Given the description of an element on the screen output the (x, y) to click on. 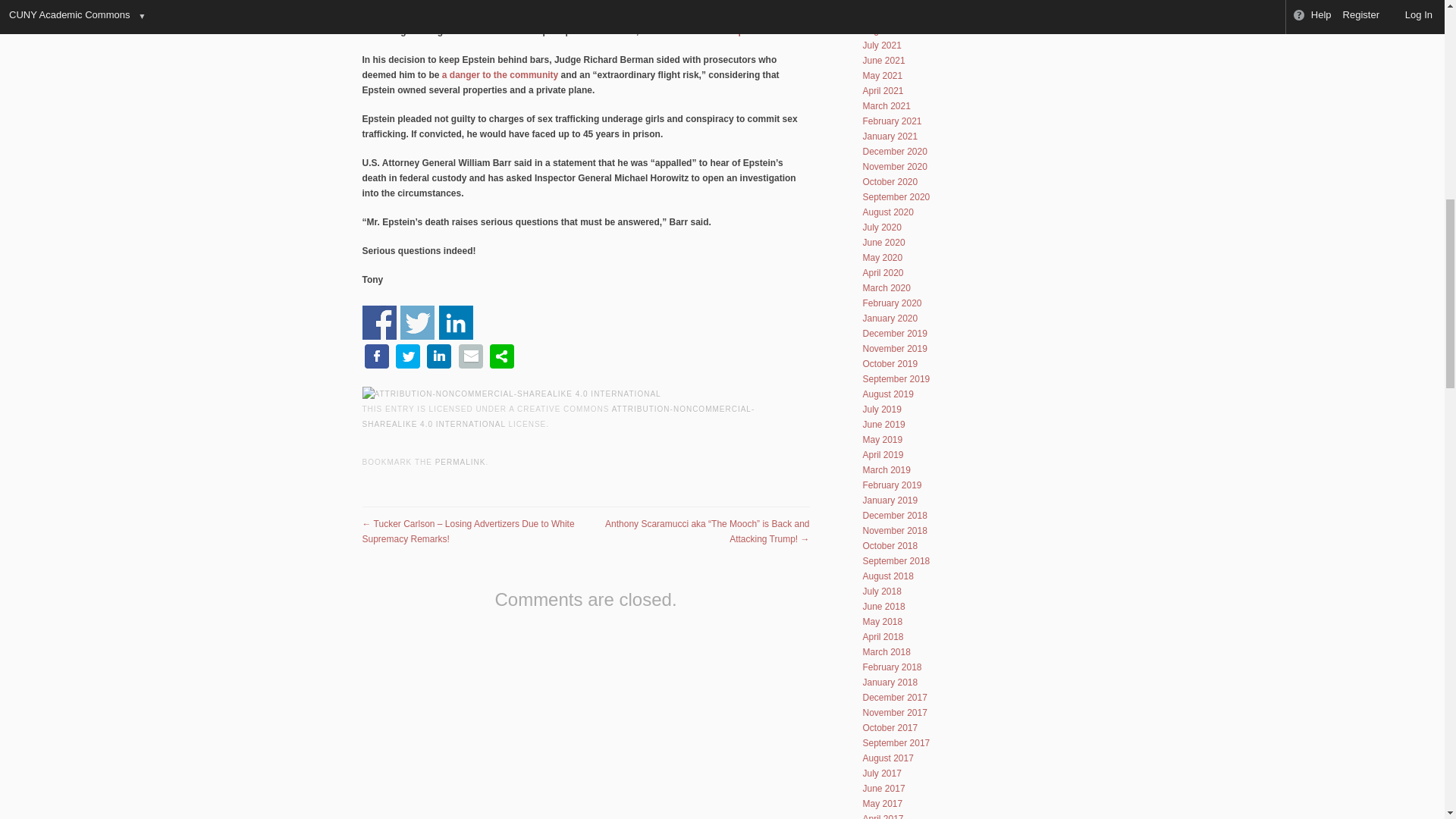
PERMALINK (460, 461)
ATTRIBUTION-NONCOMMERCIAL-SHAREALIKE 4.0 INTERNATIONAL (558, 416)
Share on Twitter (416, 322)
found semiconscious in his cell (576, 15)
a danger to the community (499, 74)
Share on Linkedin (456, 322)
reported (748, 30)
Share on Facebook (379, 322)
